Given the description of an element on the screen output the (x, y) to click on. 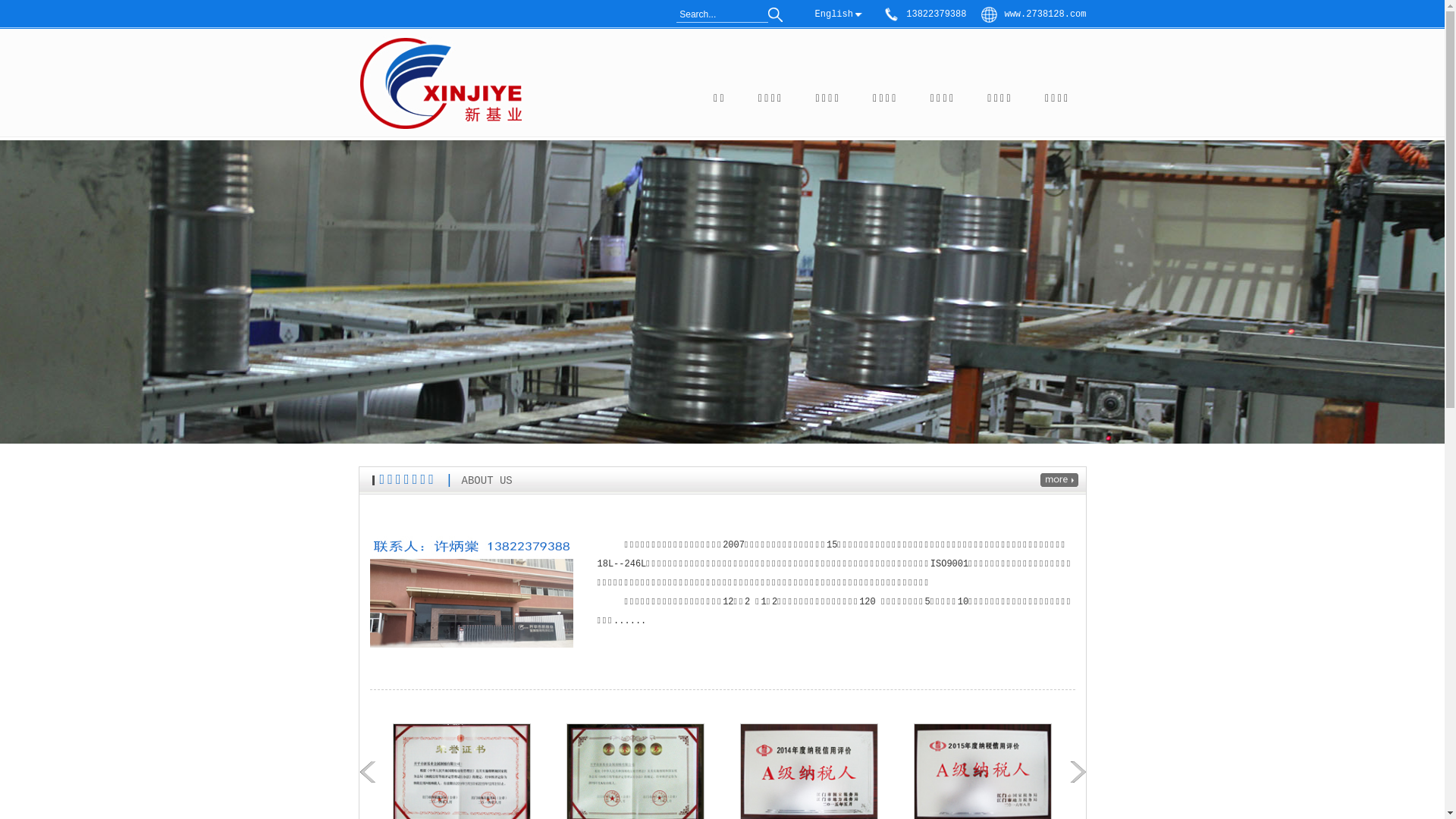
English Element type: text (833, 14)
